Given the description of an element on the screen output the (x, y) to click on. 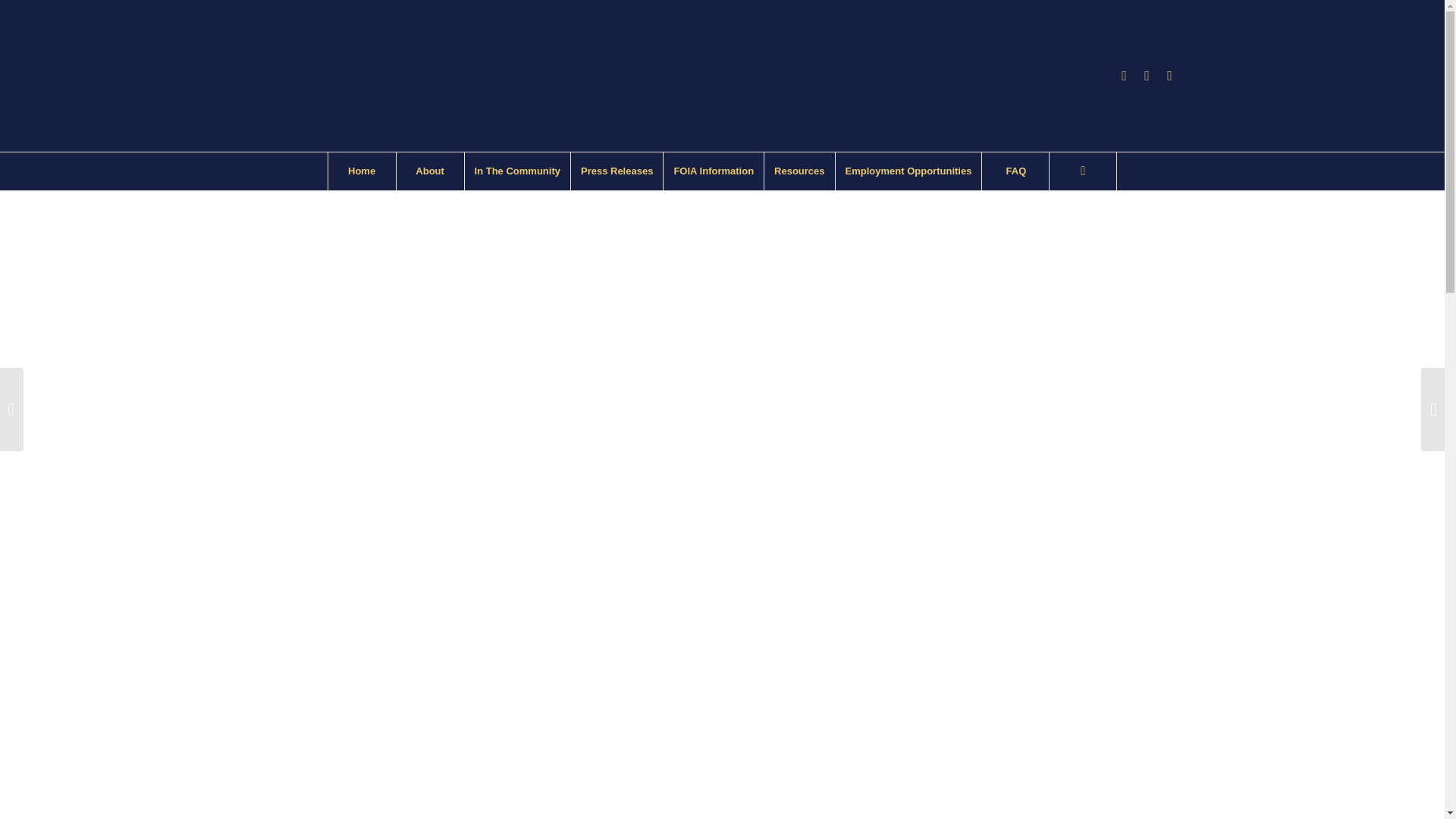
Home (361, 171)
In The Community (517, 171)
Twitter (1169, 75)
Instagram (1146, 75)
About (430, 171)
Facebook (1124, 75)
